Given the description of an element on the screen output the (x, y) to click on. 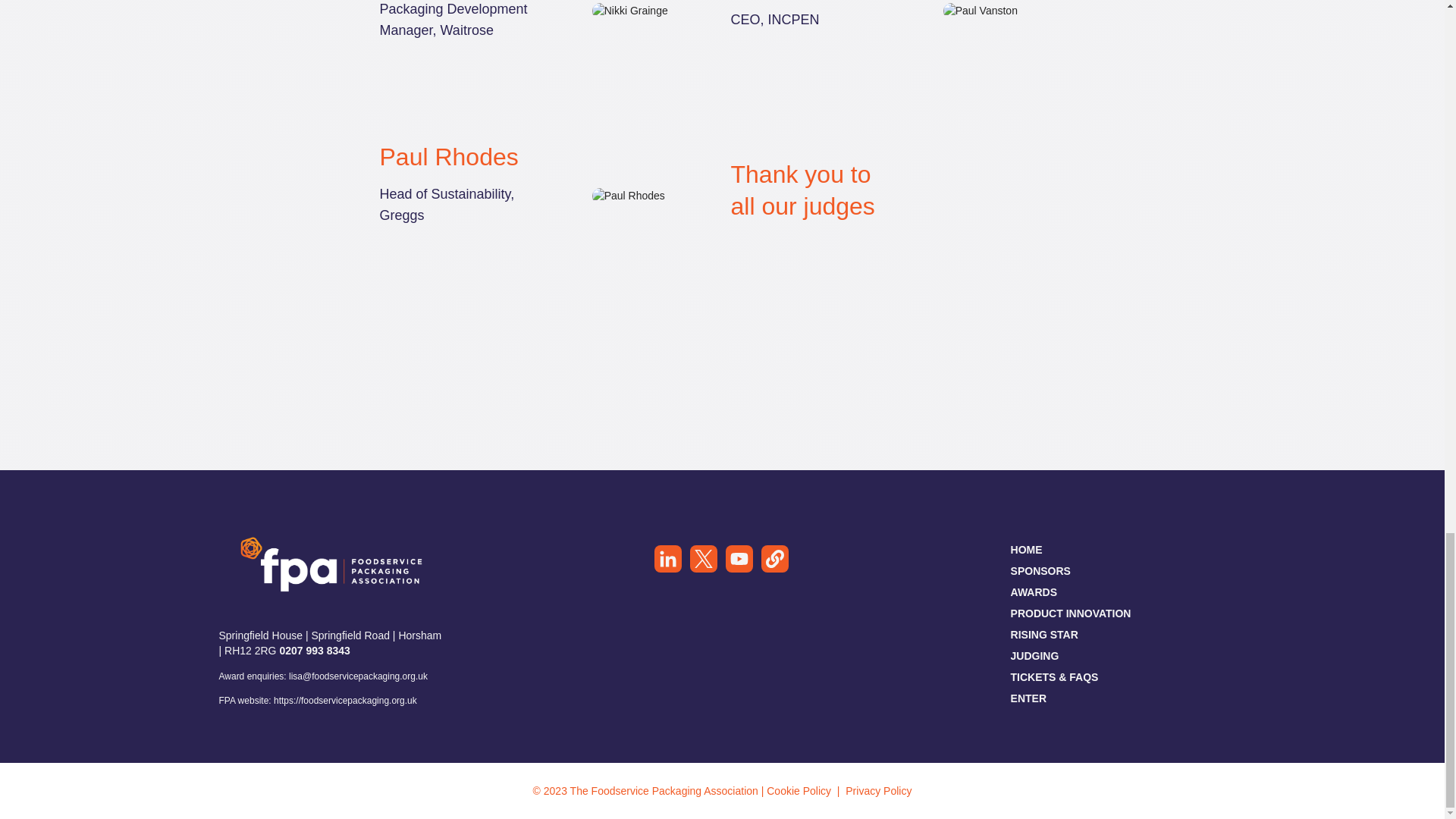
PRODUCT INNOVATION (1070, 613)
RISING STAR (1044, 634)
HOME (1026, 549)
Privacy Policy (878, 790)
Follow us on Twitter (702, 560)
AWARDS (1033, 591)
ENTER (1028, 698)
JUDGING (1034, 655)
SPONSORS (1040, 570)
Cookie Policy (800, 790)
